Given the description of an element on the screen output the (x, y) to click on. 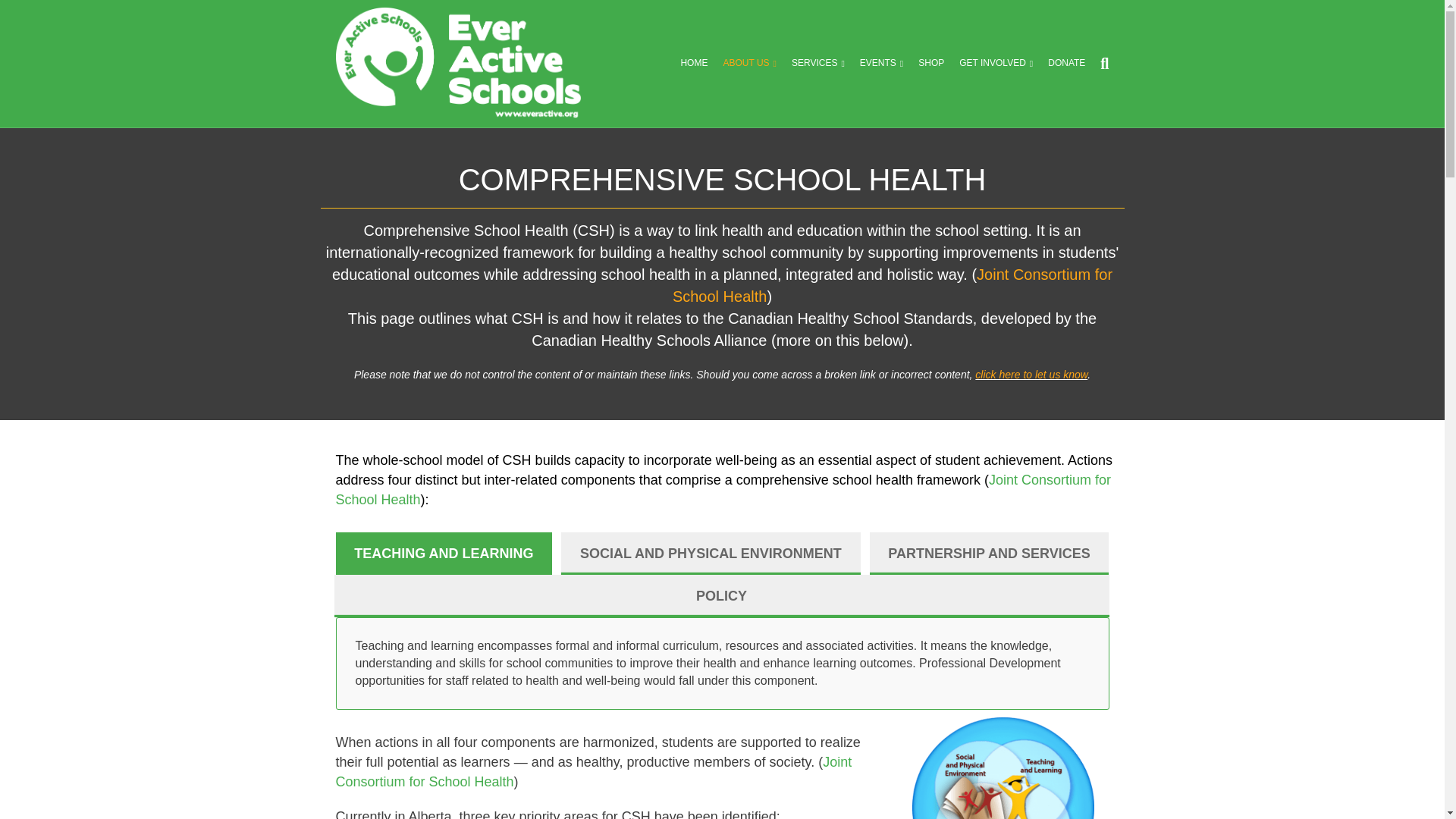
HOME (693, 63)
Joint Consortium for School Health (722, 489)
SERVICES (817, 63)
click here to let us know (1031, 374)
SHOP (931, 63)
GET INVOLVED (996, 63)
PARTNERSHIP AND SERVICES (989, 553)
POLICY (720, 595)
DONATE (1067, 63)
ABOUT US (749, 63)
